Given the description of an element on the screen output the (x, y) to click on. 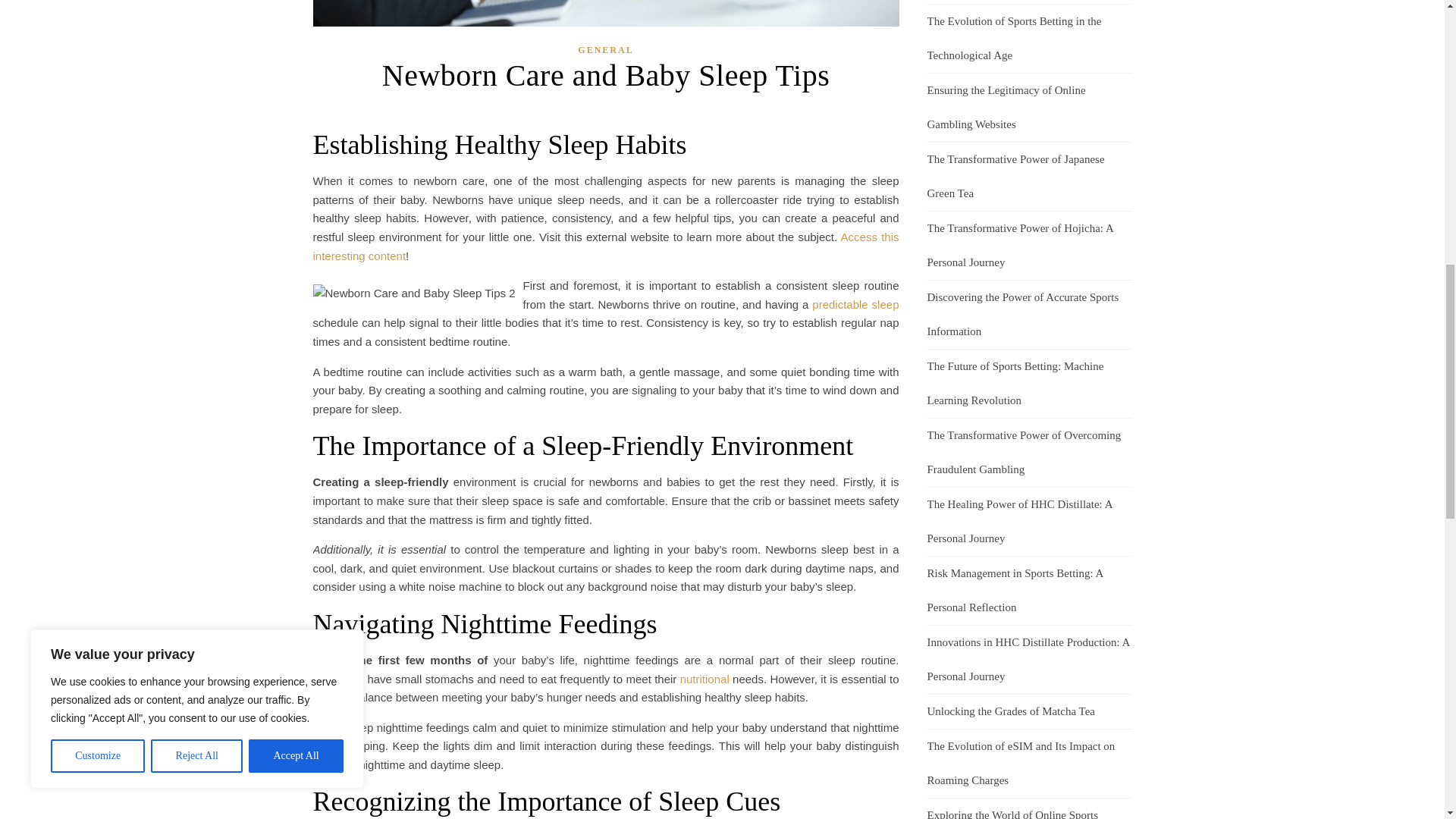
Access this interesting content (605, 246)
predictable sleep (855, 304)
GENERAL (605, 49)
nutritional (704, 678)
